Given the description of an element on the screen output the (x, y) to click on. 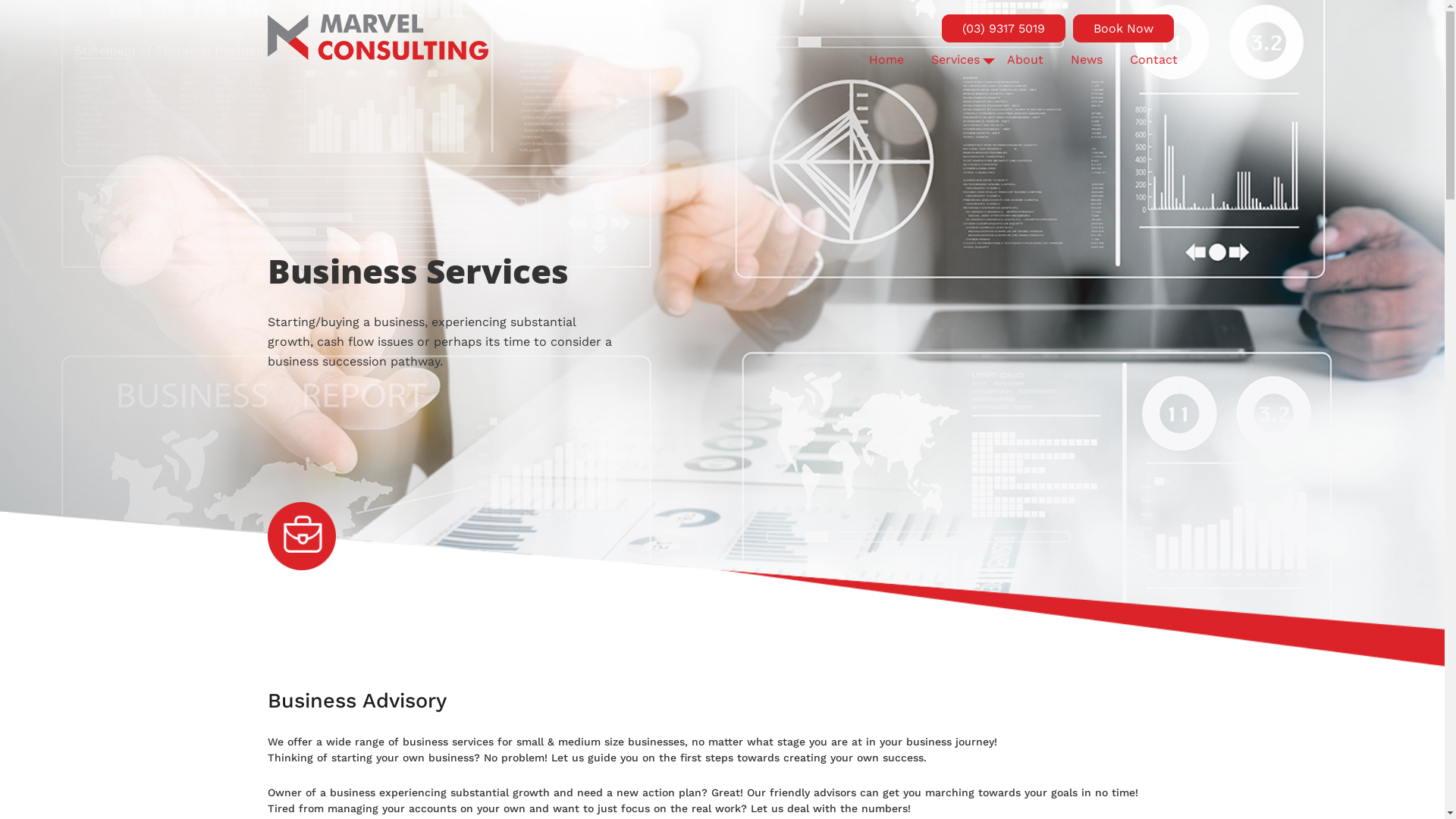
About Element type: text (1025, 59)
Home Element type: text (886, 59)
Contact Element type: text (1153, 59)
News Element type: text (1086, 59)
Book Now Element type: text (1122, 28)
Services Element type: text (955, 59)
(03) 9317 5019 Element type: text (1003, 28)
